Given the description of an element on the screen output the (x, y) to click on. 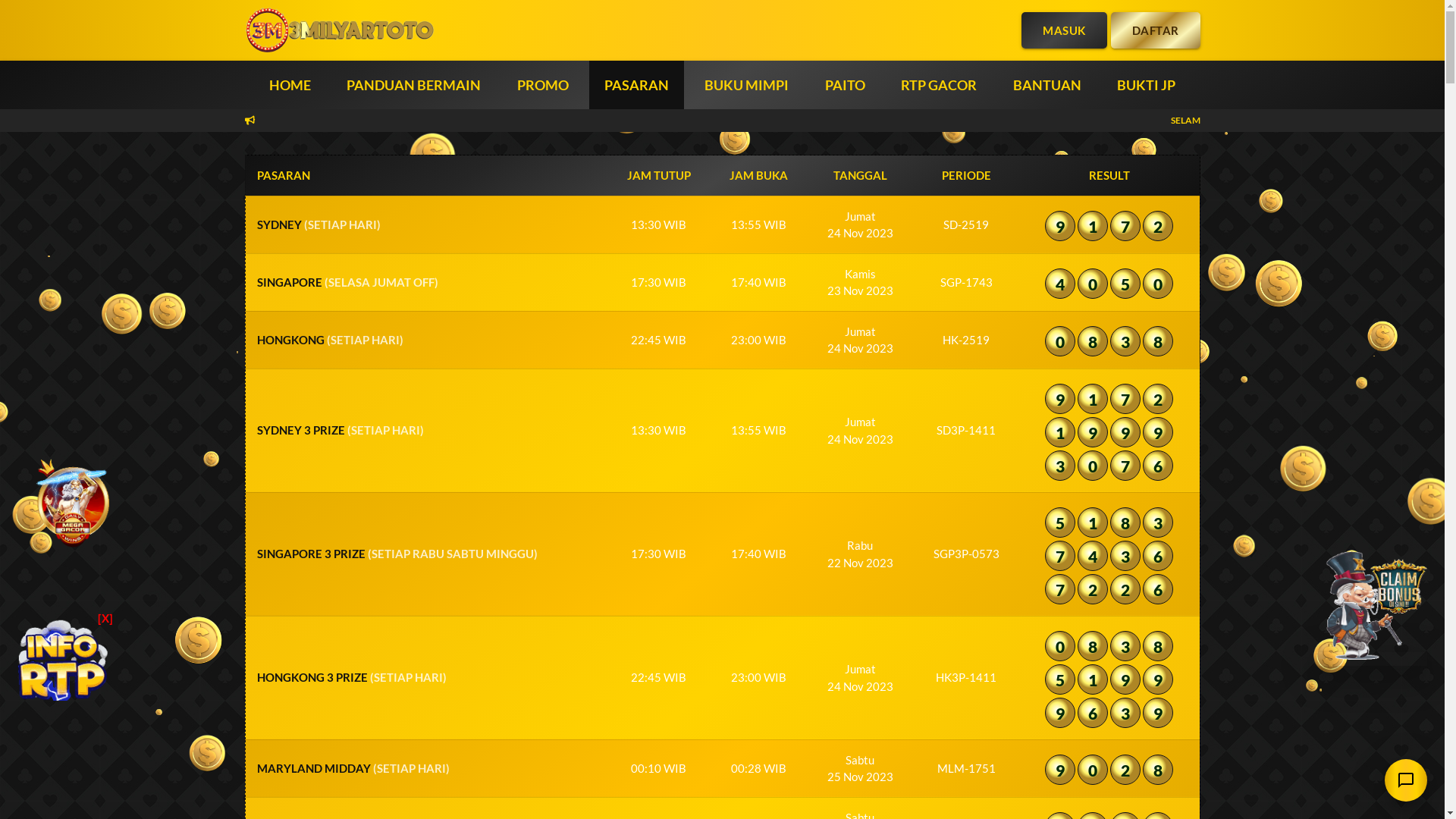
MASUK Element type: text (1064, 30)
0 8 3 8 Element type: text (1108, 343)
HONGKONG 3 PRIZE (SETIAP HARI) Element type: text (350, 677)
PROMO Element type: text (542, 84)
HOME Element type: text (289, 84)
4 0 5 0 Element type: text (1108, 285)
HONGKONG (SETIAP HARI) Element type: text (329, 339)
SYDNEY 3 PRIZE (SETIAP HARI) Element type: text (339, 429)
SINGAPORE (SELASA JUMAT OFF) Element type: text (346, 281)
PANDUAN BERMAIN Element type: text (413, 84)
9 0 2 8 Element type: text (1108, 771)
BUKU MIMPI Element type: text (746, 84)
DAFTAR Element type: text (1154, 30)
SYDNEY (SETIAP HARI) Element type: text (317, 224)
PASARAN Element type: text (636, 84)
BANTUAN Element type: text (1046, 84)
PAITO Element type: text (844, 84)
MARYLAND MIDDAY (SETIAP HARI) Element type: text (352, 768)
9 1 7 2 Element type: text (1108, 228)
chat_bubble_outline Element type: text (1405, 780)
BUKTI JP Element type: text (1145, 84)
RTP GACOR Element type: text (938, 84)
0 8 3 8
5 1 9 9
9 6 3 9 Element type: text (1123, 681)
9 1 7 2
1 9 9 9
3 0 7 6 Element type: text (1123, 434)
SINGAPORE 3 PRIZE (SETIAP RABU SABTU MINGGU) Element type: text (396, 553)
5 1 8 3
7 4 3 6
7 2 2 6 Element type: text (1123, 557)
